Given the description of an element on the screen output the (x, y) to click on. 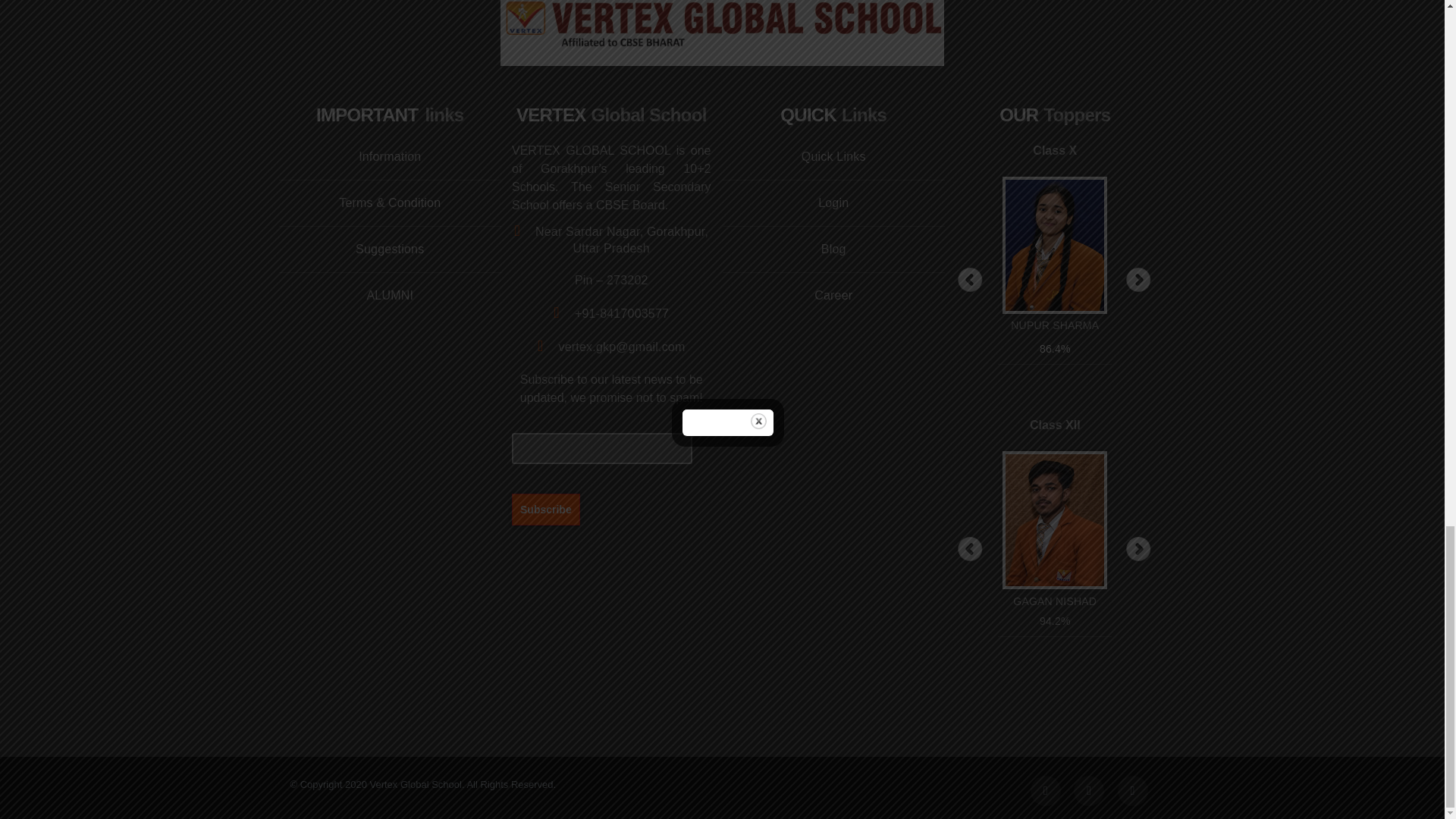
Subscribe (545, 508)
